Given the description of an element on the screen output the (x, y) to click on. 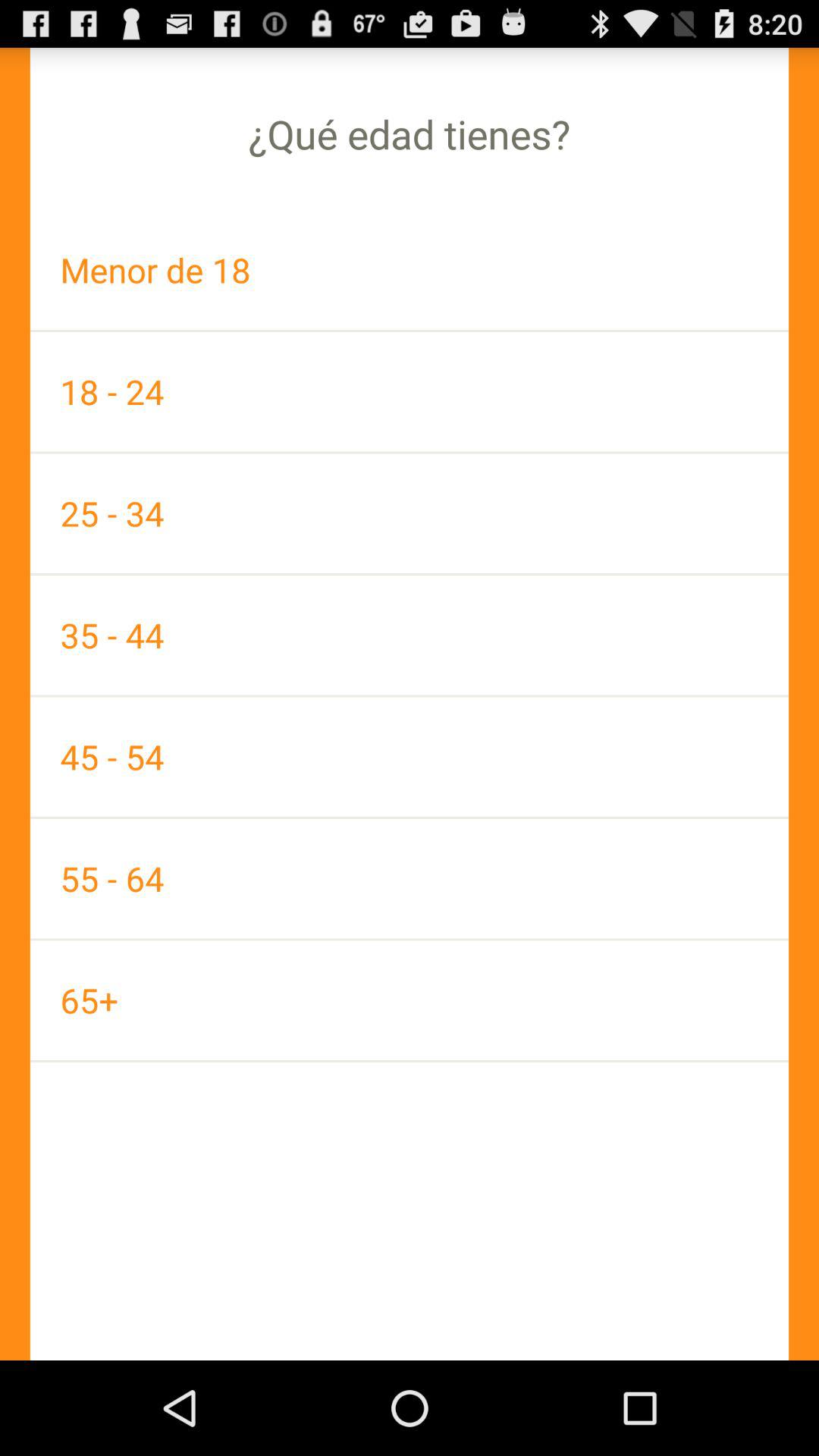
flip to the 45 - 54 (409, 756)
